Given the description of an element on the screen output the (x, y) to click on. 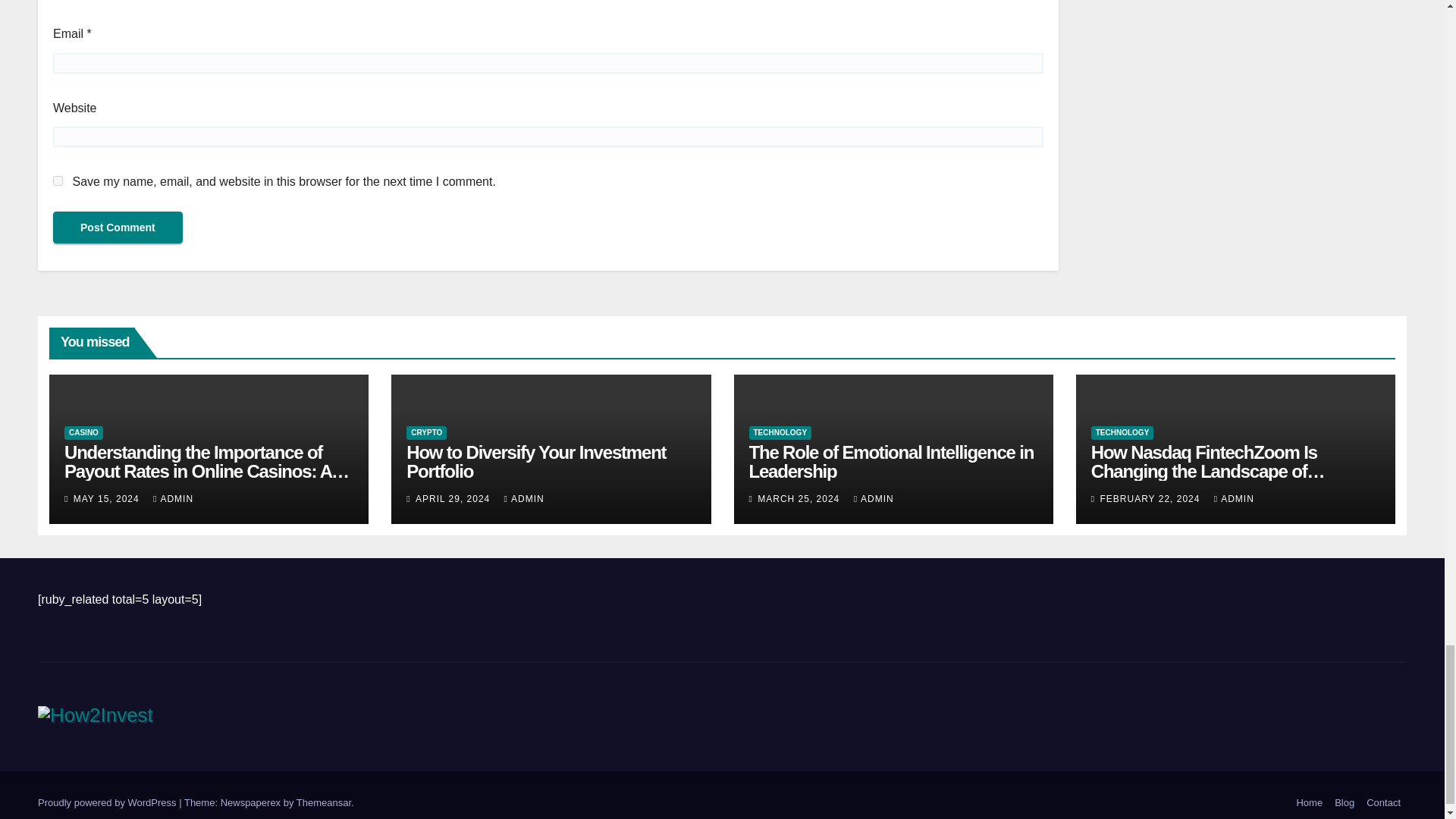
Permalink to: How to Diversify Your Investment Portfolio (535, 461)
Home (1308, 802)
yes (57, 180)
Post Comment (117, 227)
